Given the description of an element on the screen output the (x, y) to click on. 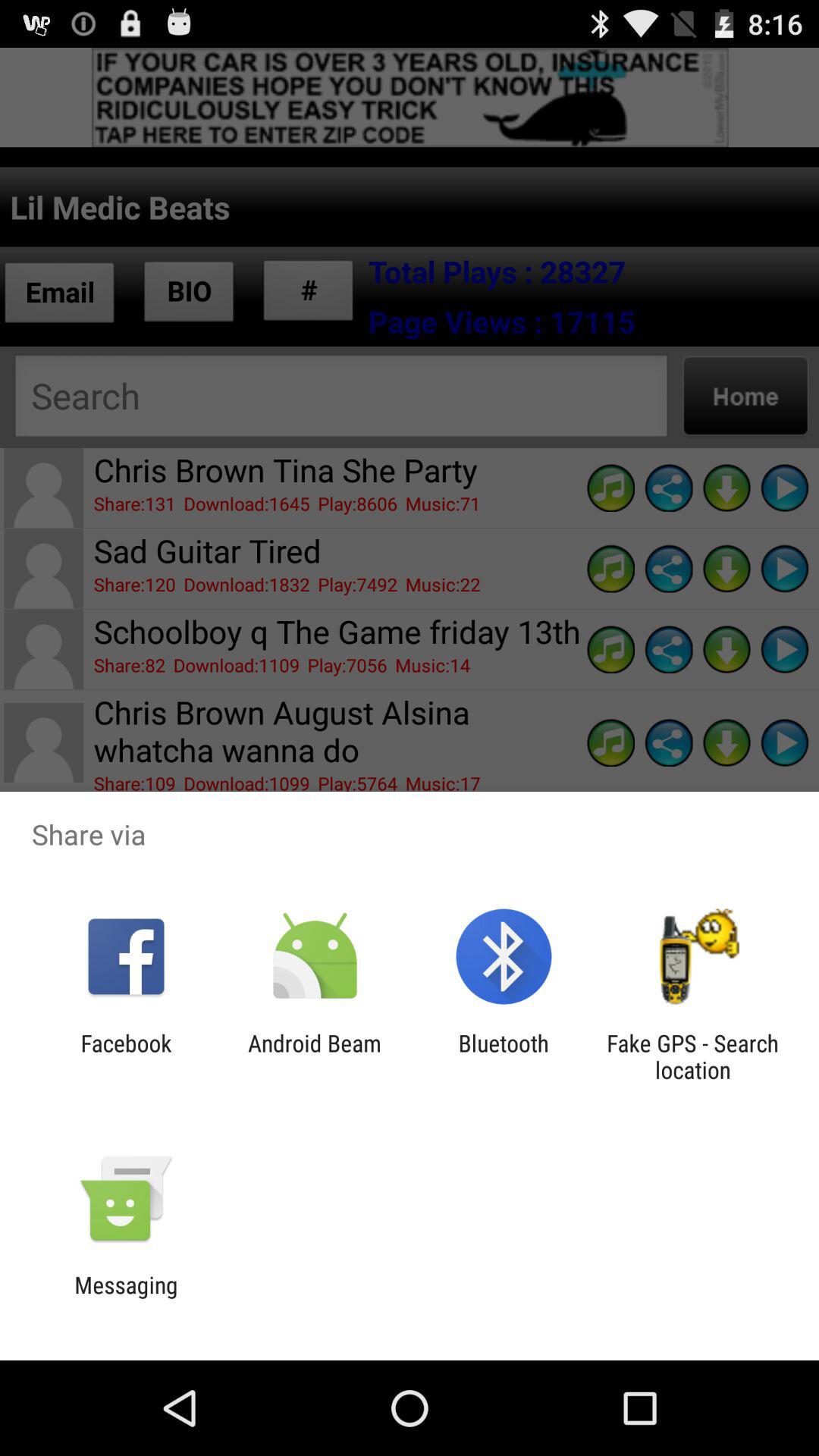
turn off android beam (314, 1056)
